Given the description of an element on the screen output the (x, y) to click on. 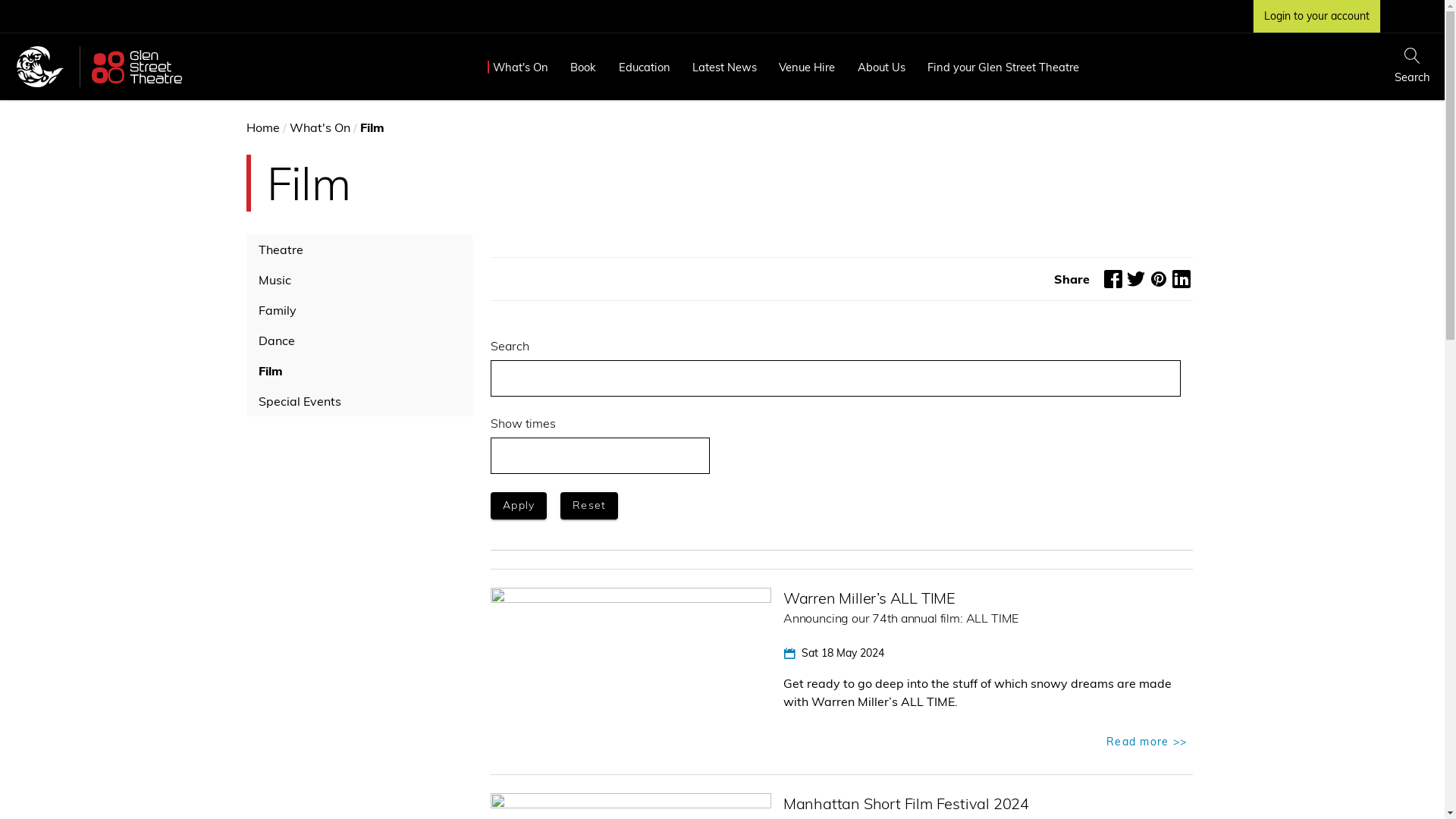
Theatre Element type: text (358, 249)
What's On Element type: text (319, 126)
Find your Glen Street Theatre Element type: text (1002, 66)
Glen Street Theatre home page Element type: text (136, 65)
Manhattan Short Film Festival 2024 Element type: text (906, 802)
Film Element type: text (358, 370)
Music Element type: text (358, 279)
Education Element type: text (643, 66)
Latest News Element type: text (723, 66)
What's On Element type: text (519, 66)
Home Element type: text (262, 126)
Dance Element type: text (358, 340)
Apply Element type: text (517, 505)
  Read more >> Element type: text (1145, 741)
Skip to main content Element type: text (0, 0)
Show
Search Element type: text (1412, 66)
About Us Element type: text (881, 66)
Login to your account Element type: text (1316, 16)
Venue Hire Element type: text (807, 66)
Book Element type: text (583, 66)
Special Events Element type: text (358, 400)
Reset Element type: text (589, 505)
Family Element type: text (358, 309)
